Given the description of an element on the screen output the (x, y) to click on. 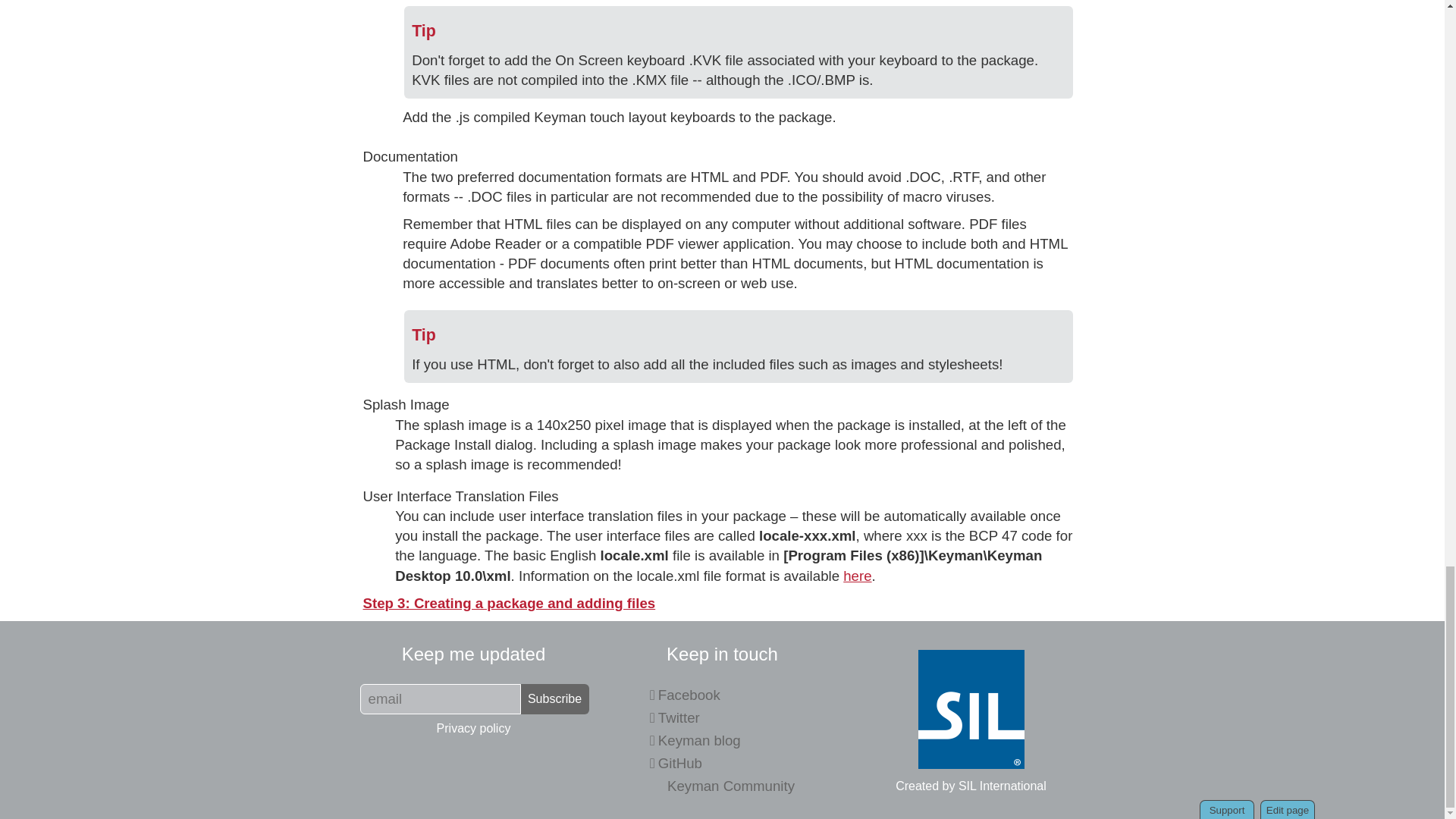
Step 3: Creating a package and adding files (508, 602)
